Given the description of an element on the screen output the (x, y) to click on. 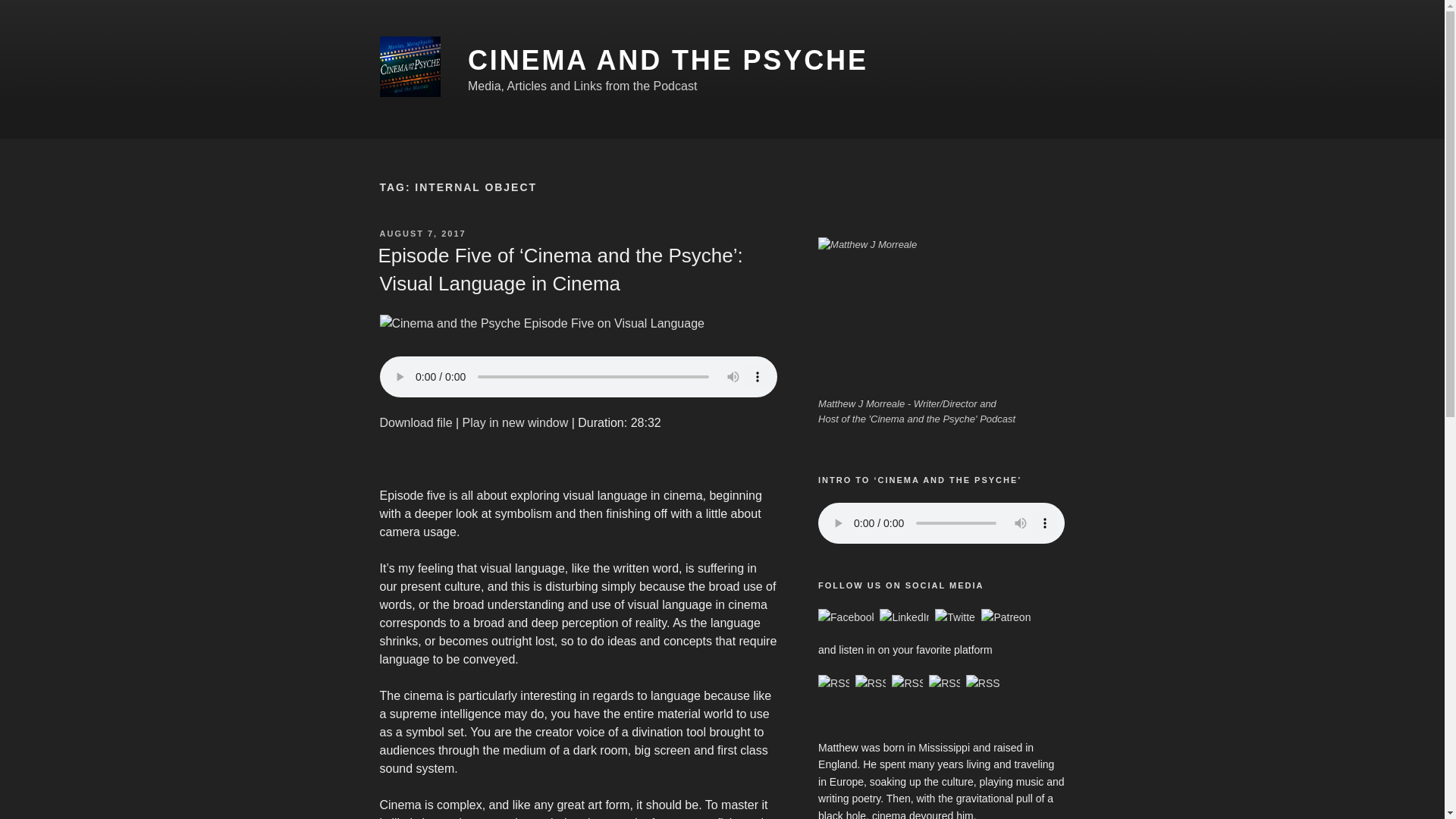
CINEMA AND THE PSYCHE (667, 60)
Play in new window (516, 422)
Download file (414, 422)
AUGUST 7, 2017 (421, 233)
